Given the description of an element on the screen output the (x, y) to click on. 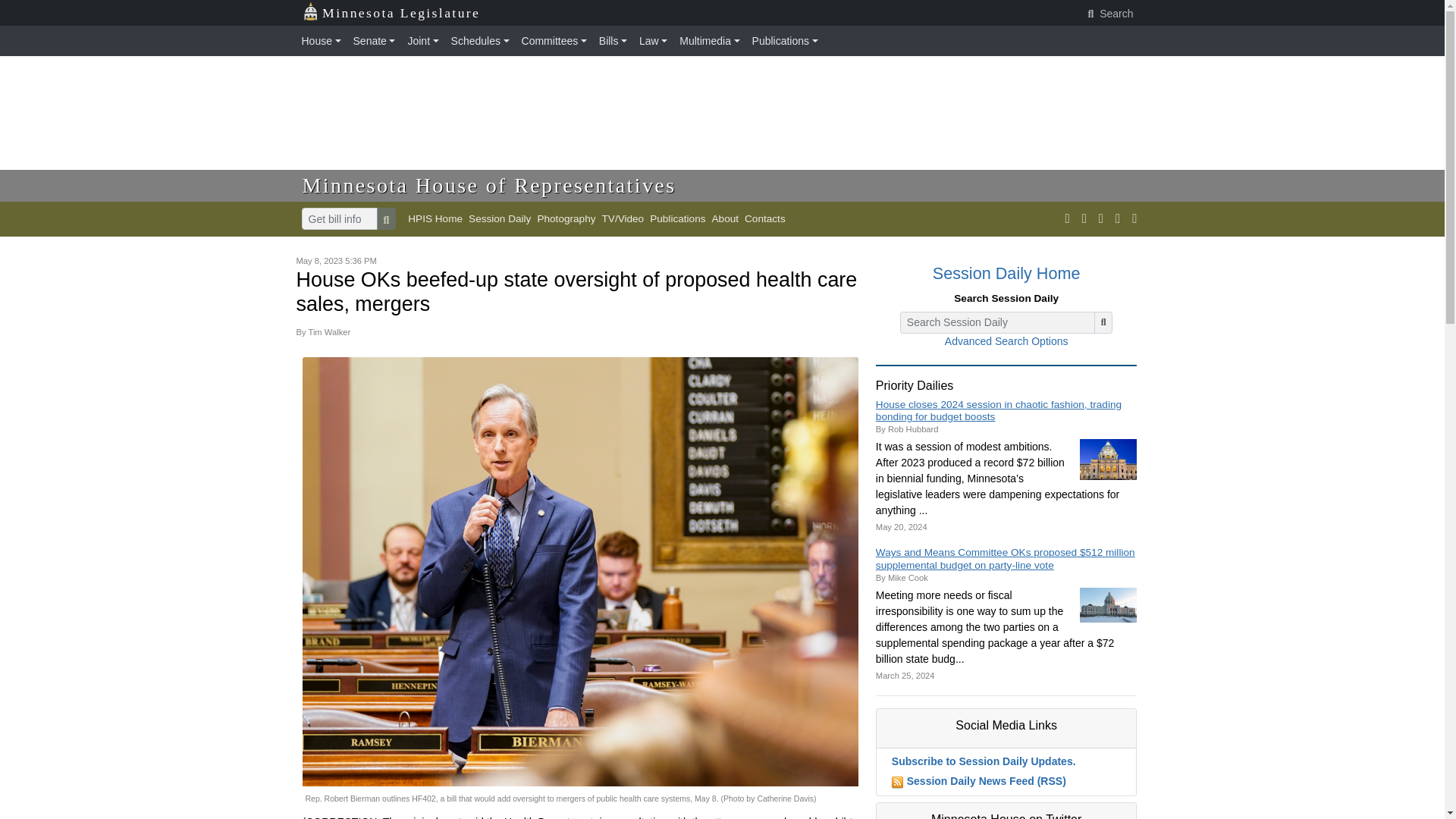
House (324, 40)
Senate (374, 40)
Search (1111, 13)
Minnesota Legislature (390, 12)
